Given the description of an element on the screen output the (x, y) to click on. 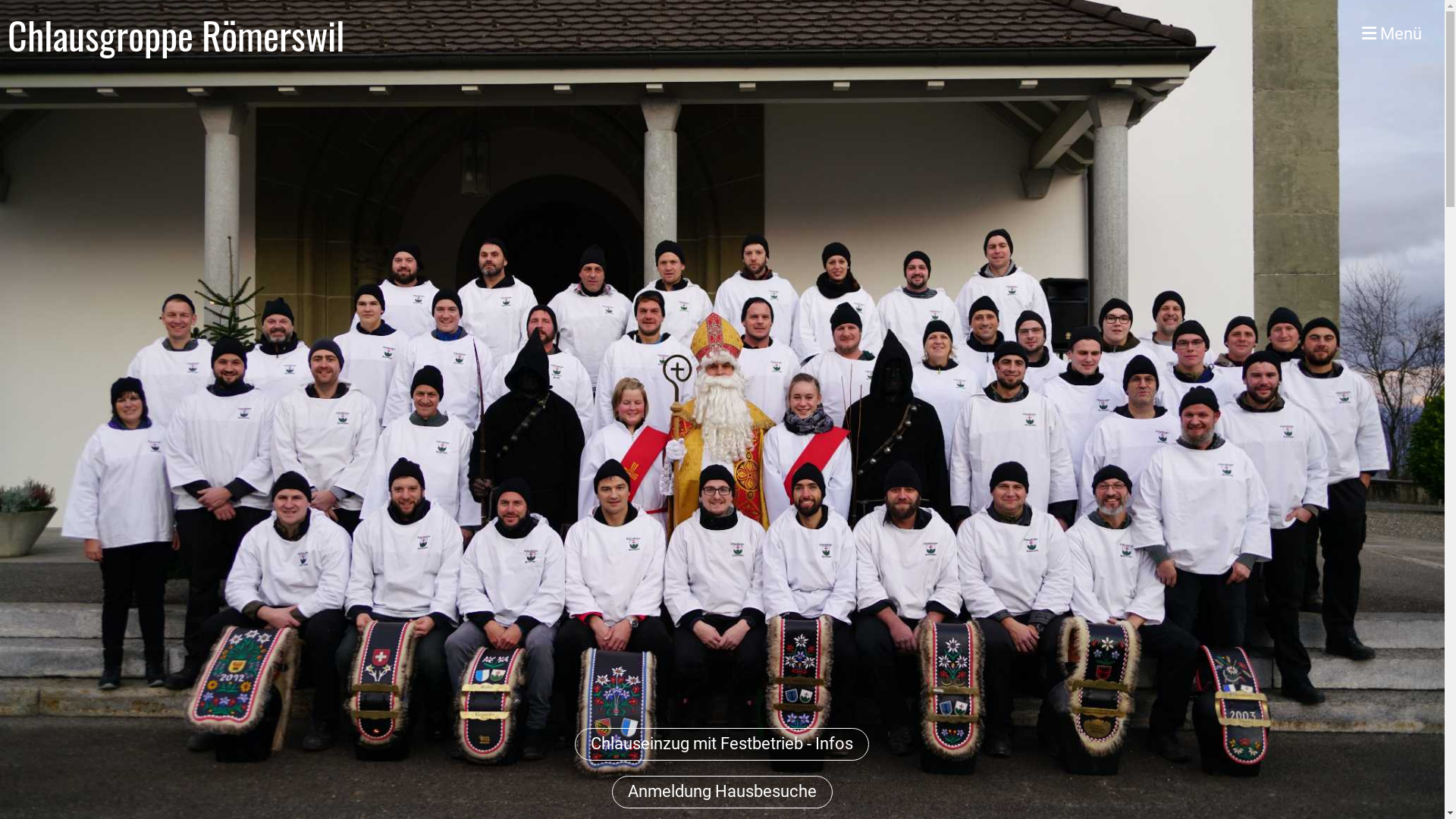
Chlauseinzug mit Festbetrieb - Infos Element type: text (721, 744)
Anmeldung Hausbesuche Element type: text (721, 791)
